Given the description of an element on the screen output the (x, y) to click on. 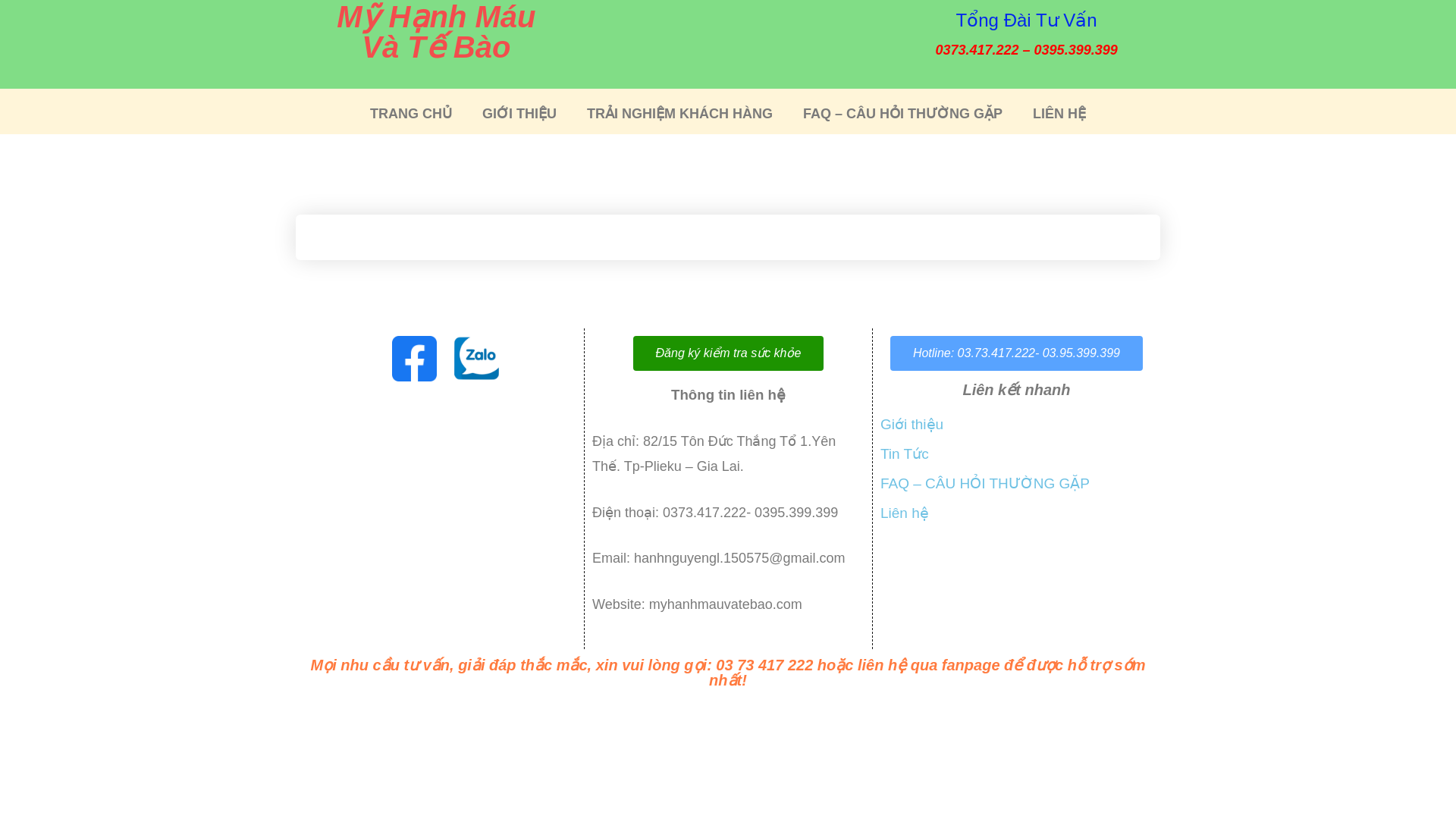
Hotline: 03.73.417.222- 03.95.399.399 (1015, 353)
